Given the description of an element on the screen output the (x, y) to click on. 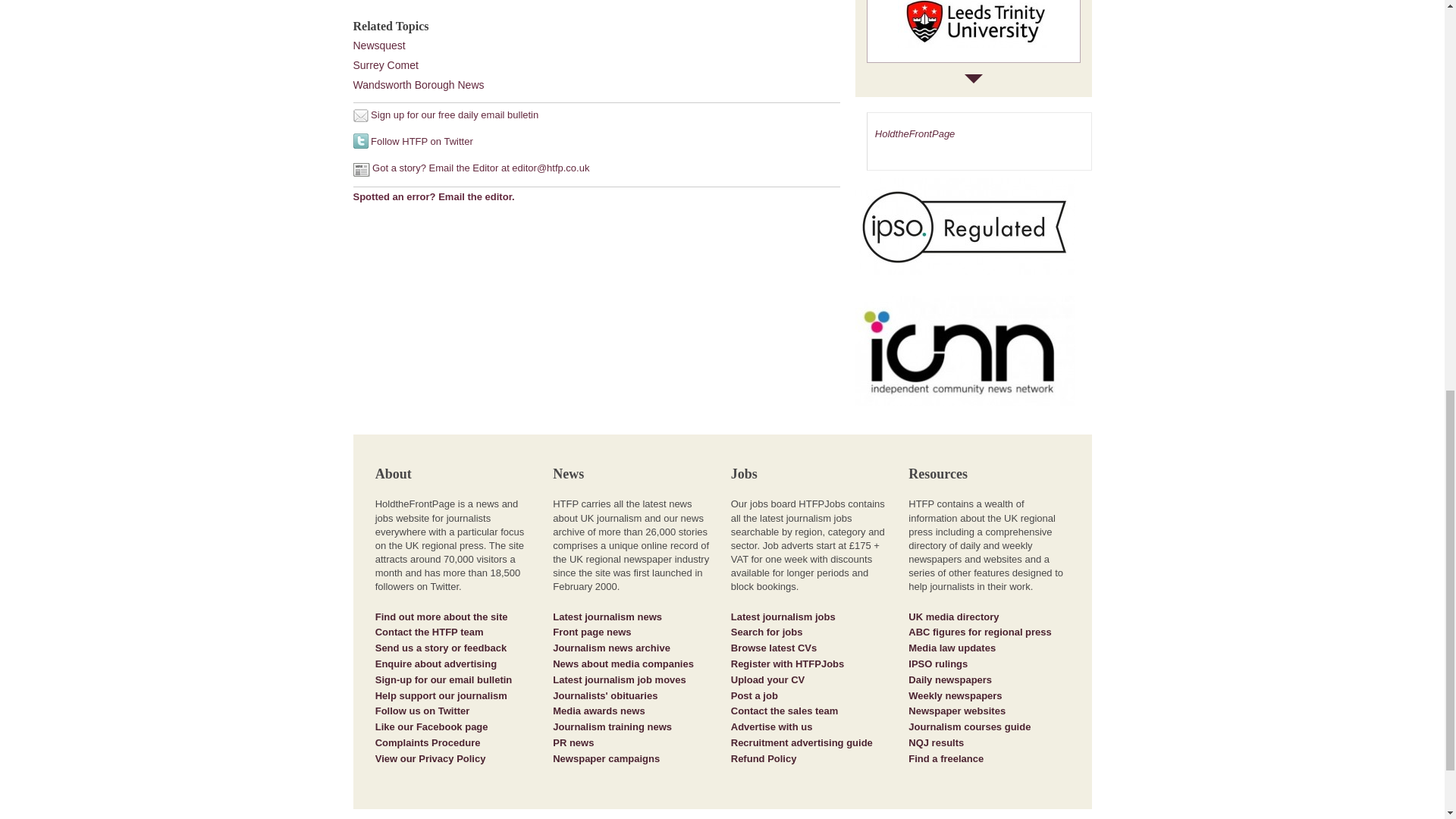
Independent Press Standards Organisation (965, 226)
Independent Community News Network (974, 357)
Enquire about advertising with us (435, 663)
Donations page (440, 695)
Contact the HTFP team (429, 632)
Send us a story or feedback (440, 647)
Independent Press Standards Organisation (974, 233)
Sign-up for our email bulletin (443, 679)
Find out more about the site (441, 616)
Independent Community News Network (965, 350)
